Given the description of an element on the screen output the (x, y) to click on. 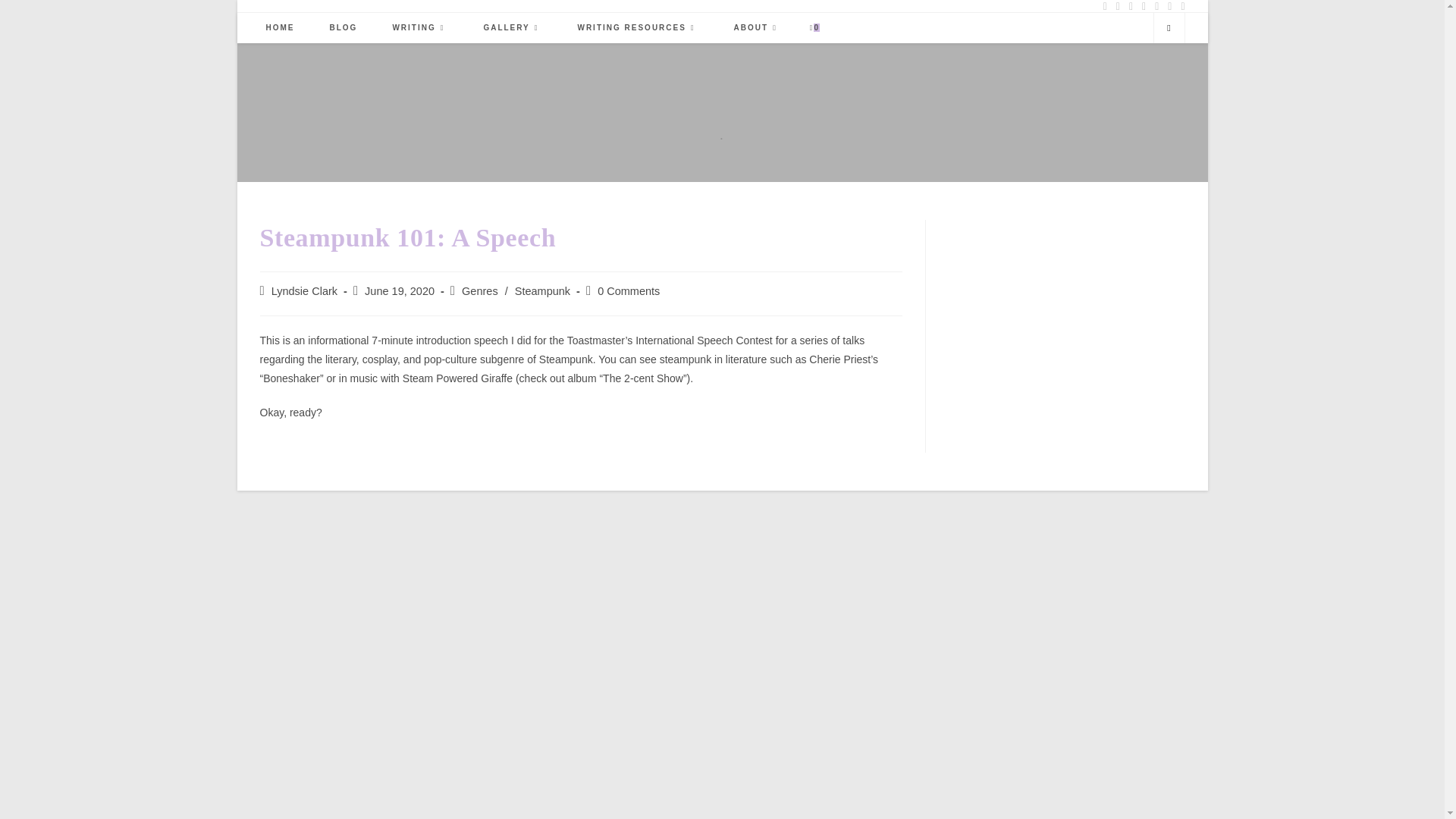
HOME (280, 28)
GALLERY (512, 28)
Posts by Lyndsie Clark (303, 291)
WRITING (419, 28)
0 (814, 28)
BLOG (344, 28)
WRITING RESOURCES (637, 28)
ABOUT (756, 28)
